Given the description of an element on the screen output the (x, y) to click on. 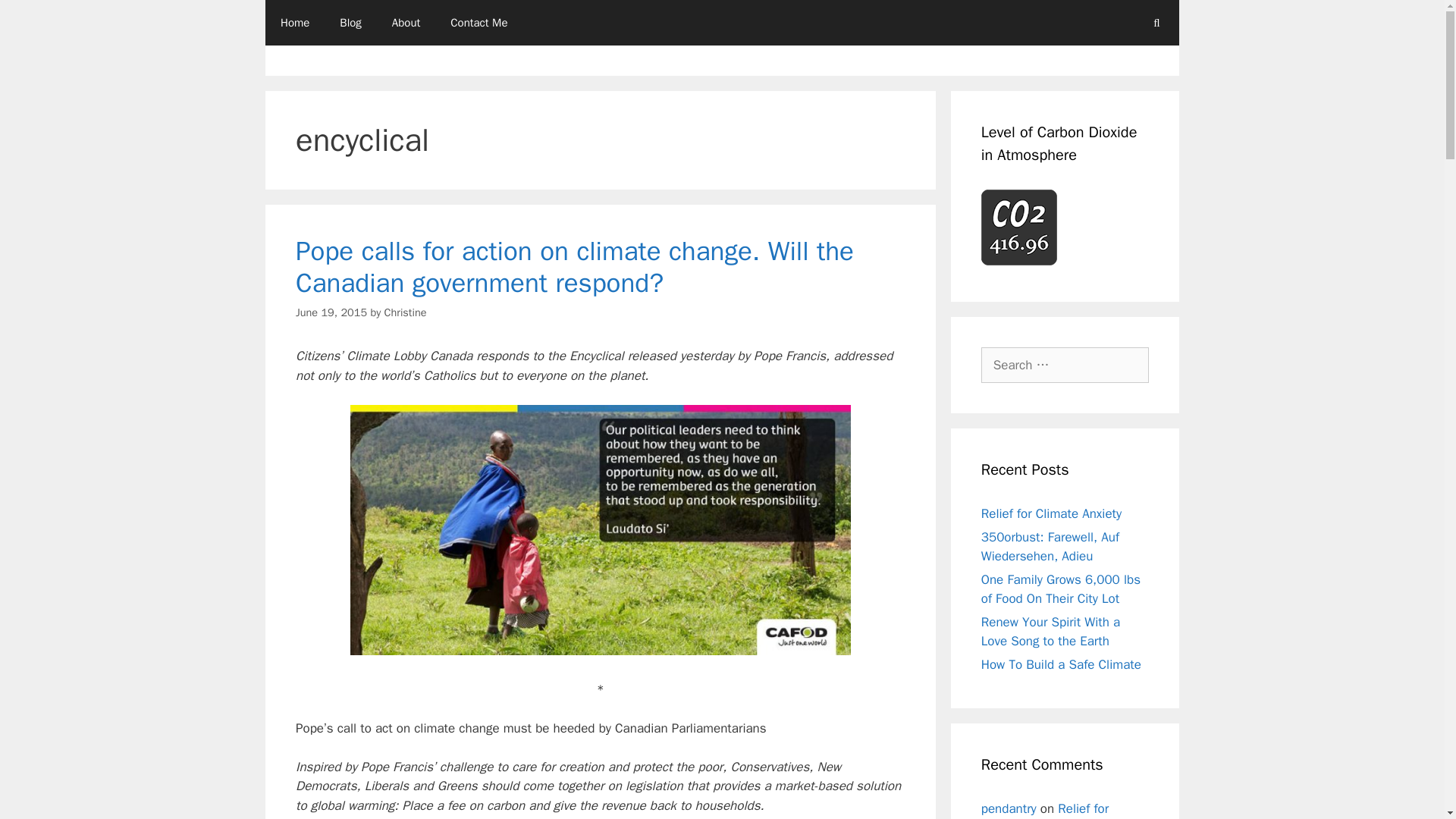
Blog (349, 22)
Contact Me (478, 22)
Search for: (1064, 365)
Search (35, 18)
About (406, 22)
Home (294, 22)
View all posts by Christine (405, 312)
Earth's latest data for atmospheric CO2 (1019, 227)
Christine (405, 312)
Relief for Climate Anxiety (1051, 513)
